Given the description of an element on the screen output the (x, y) to click on. 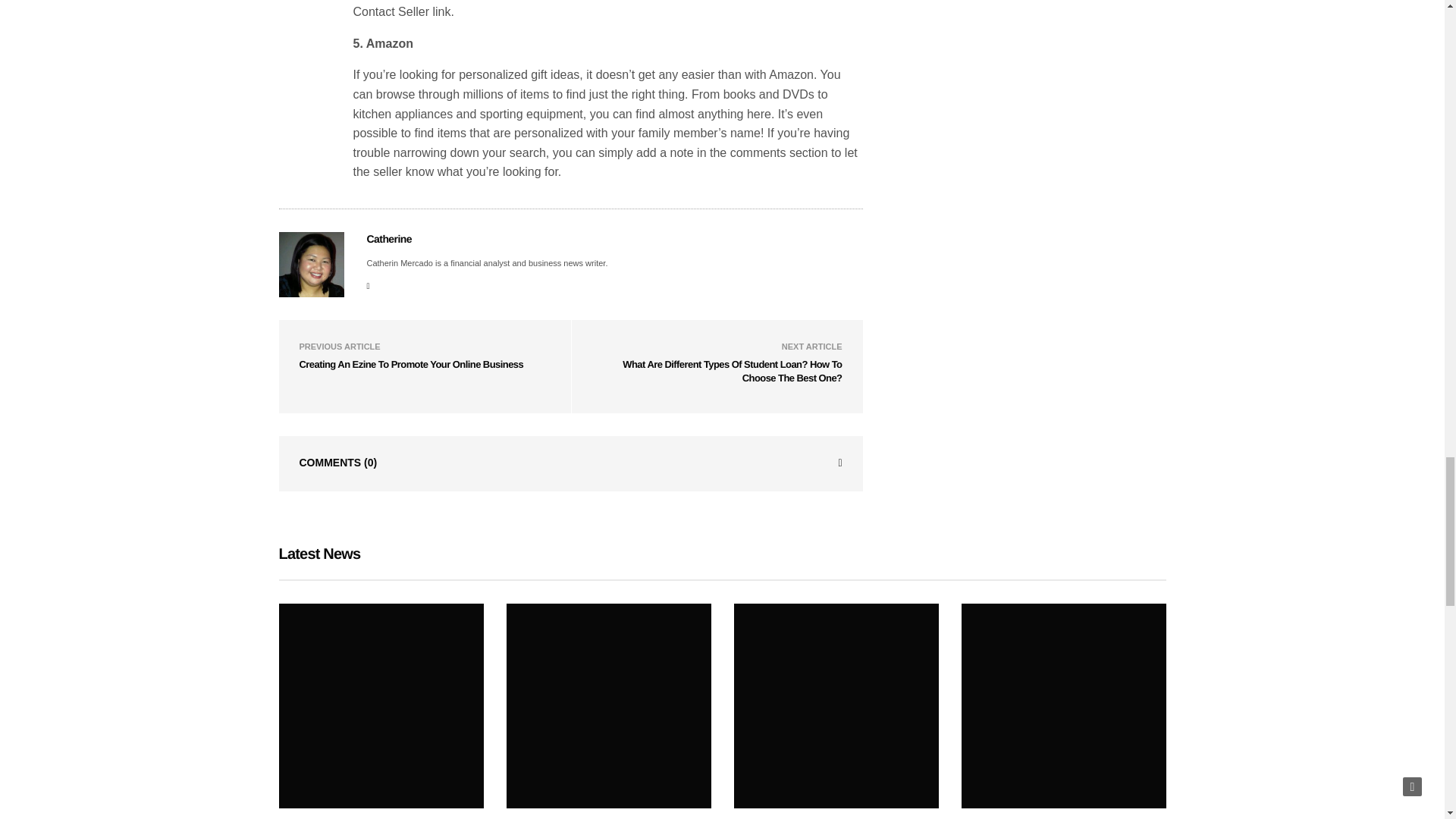
Creating An Ezine To Promote Your Online Business (410, 364)
Creating An Ezine To Promote Your Online Business (410, 364)
Catherine (389, 238)
